Given the description of an element on the screen output the (x, y) to click on. 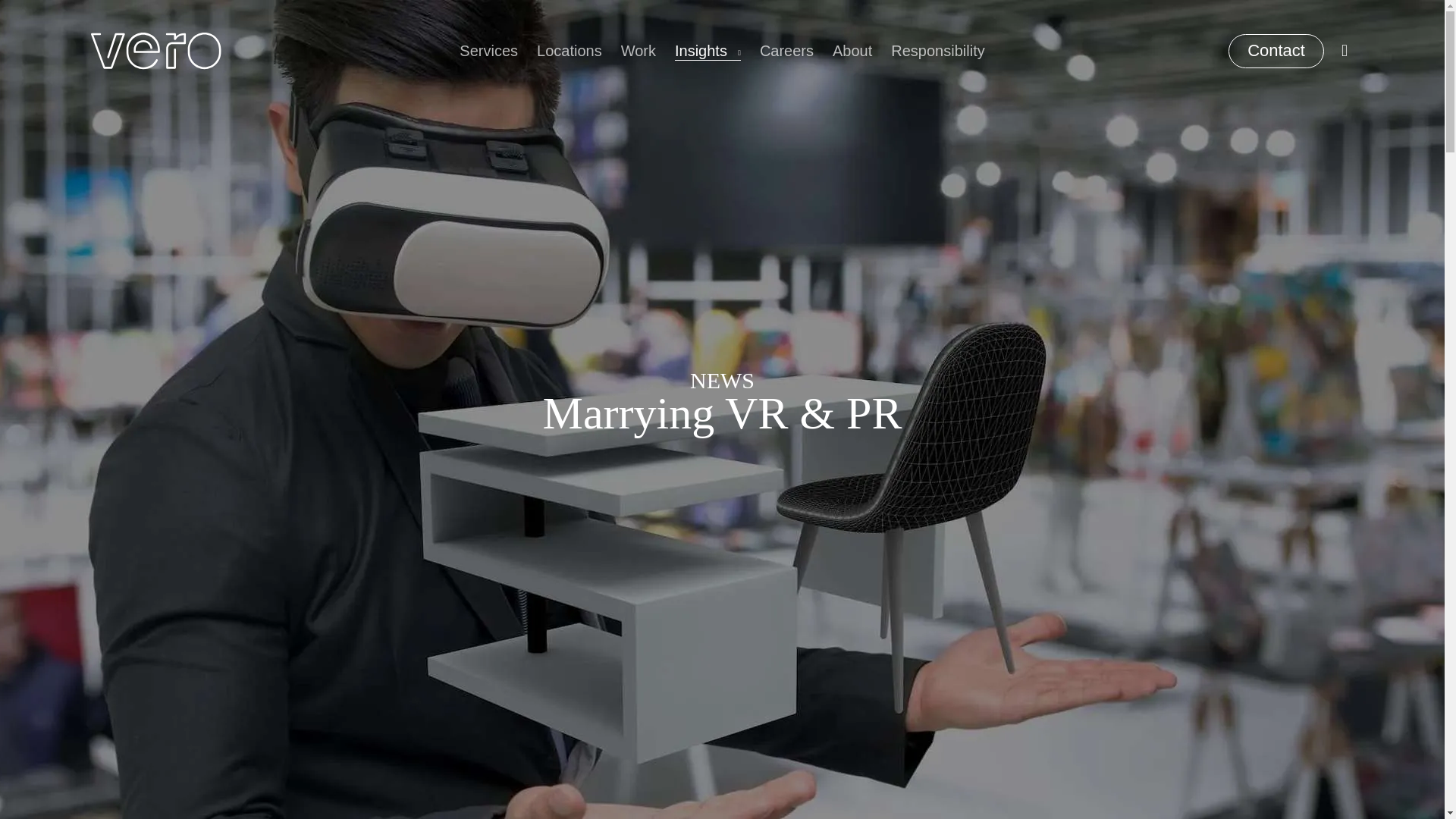
Locations (569, 50)
About (852, 50)
Vero (155, 50)
Services (489, 50)
Responsibility (937, 50)
Contact (1275, 50)
Careers (786, 50)
Careers (786, 50)
Insights (708, 50)
Responsibility (937, 50)
About (852, 50)
Work (638, 50)
Services (489, 50)
Work (638, 50)
Insights (708, 50)
